Given the description of an element on the screen output the (x, y) to click on. 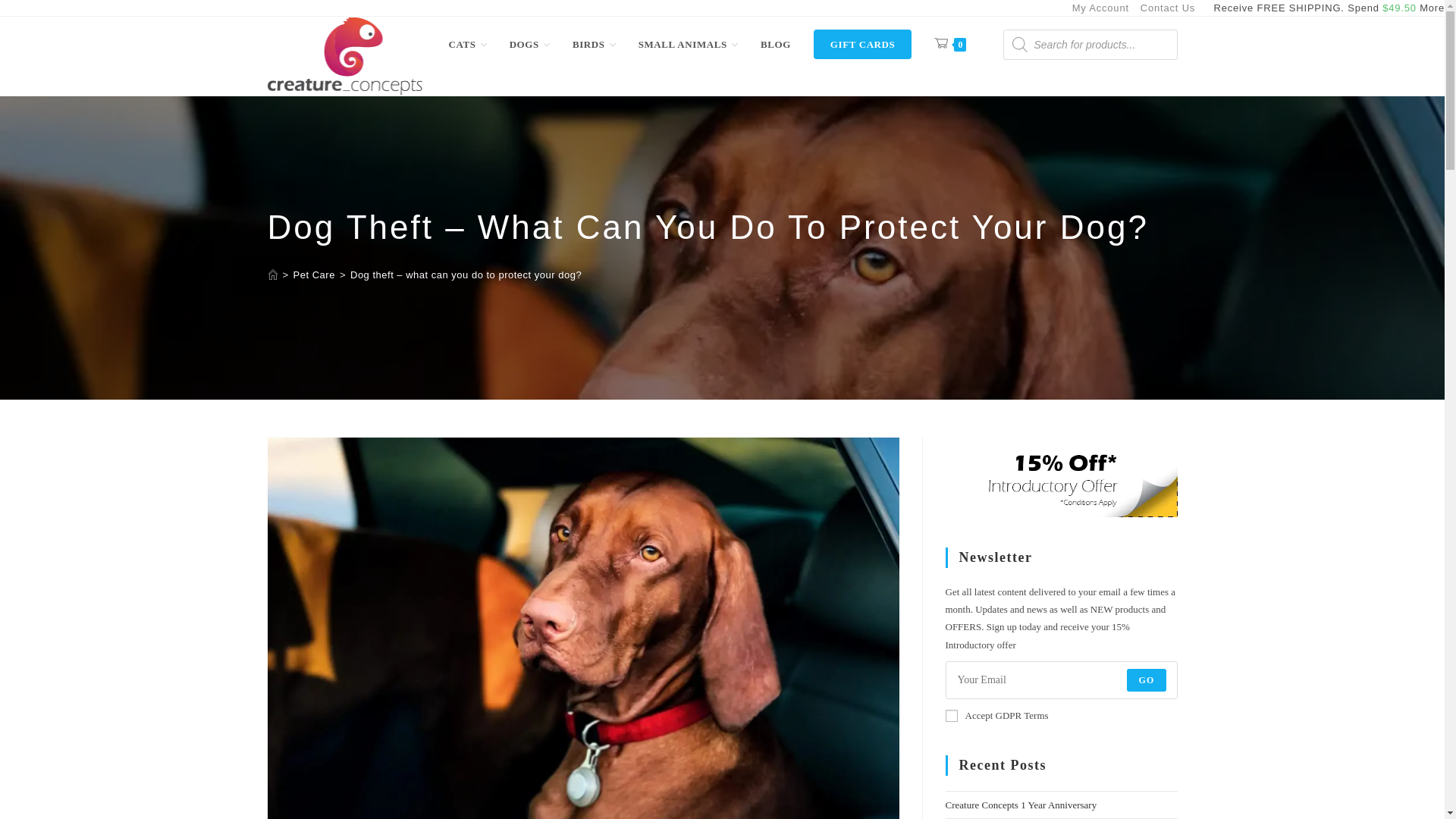
1 (950, 715)
BIRDS (593, 44)
GIFT CARDS (862, 44)
SMALL ANIMALS (688, 44)
CATS (466, 44)
My Account (1100, 7)
DOGS (528, 44)
Contact Us (1167, 7)
0 (949, 44)
